Given the description of an element on the screen output the (x, y) to click on. 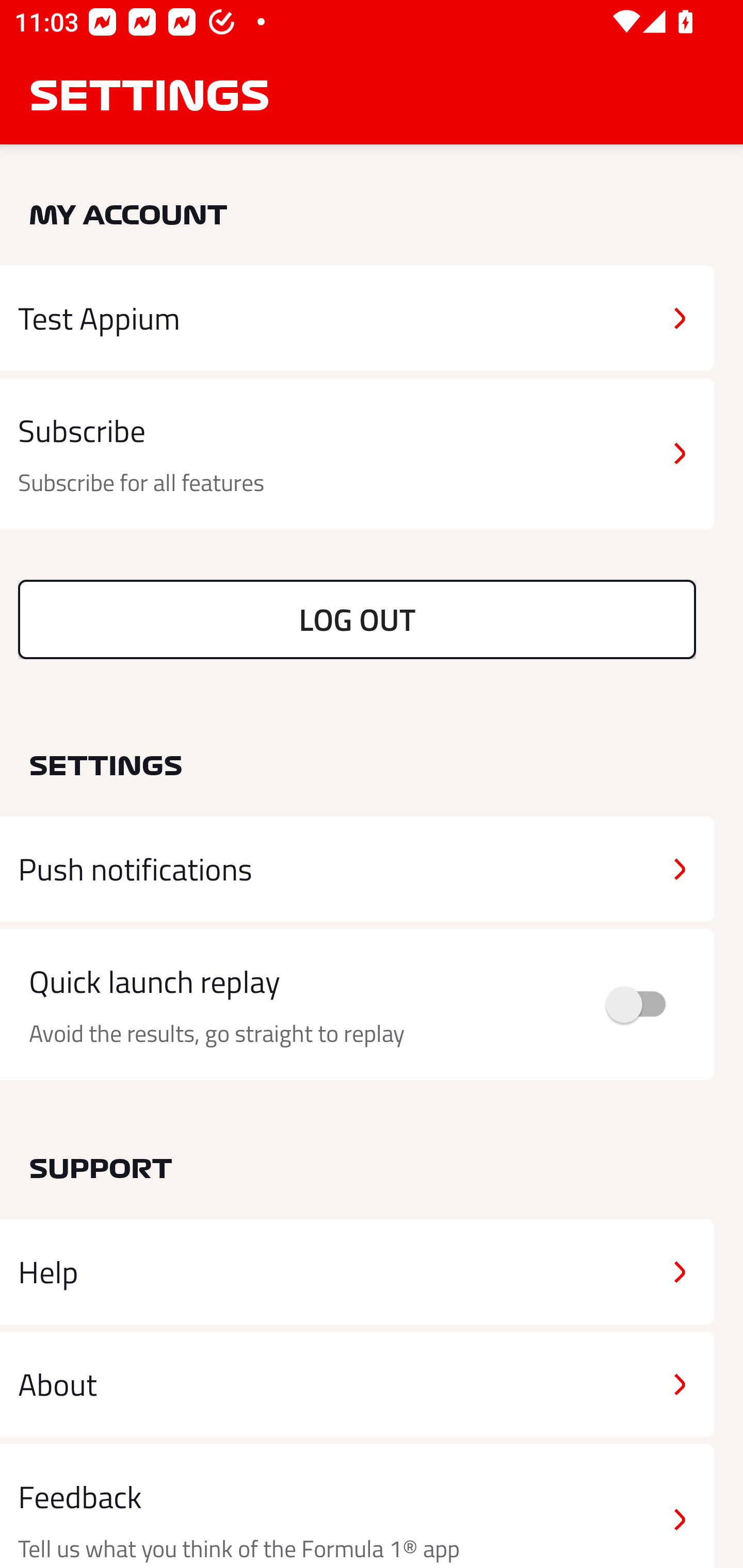
Test Appium (357, 317)
Subscribe Subscribe for all features (357, 453)
LOG OUT (356, 619)
Push notifications (357, 868)
Help (357, 1271)
About (357, 1383)
